Given the description of an element on the screen output the (x, y) to click on. 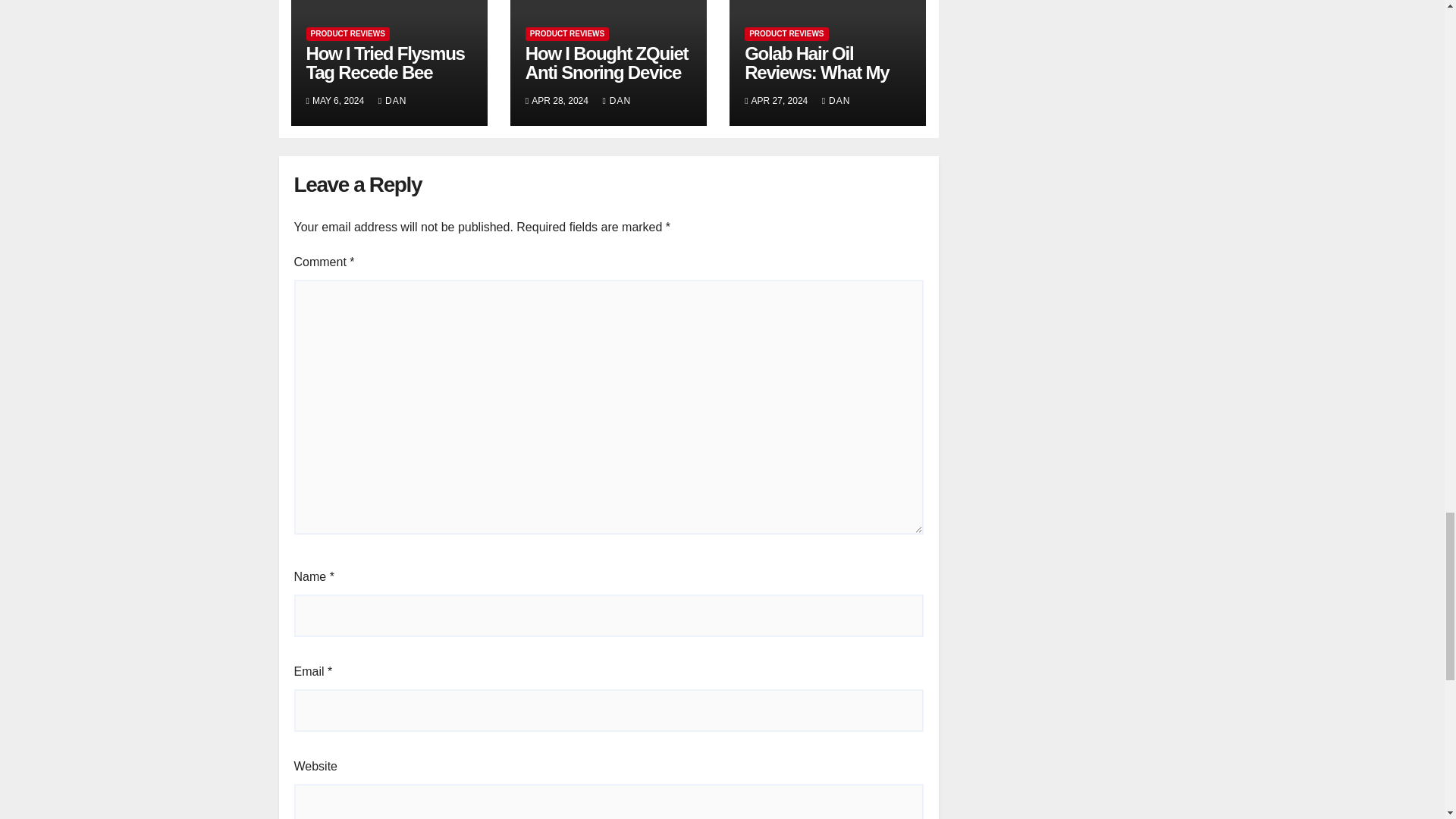
PRODUCT REVIEWS (347, 33)
DAN (392, 100)
PRODUCT REVIEWS (566, 33)
